Given the description of an element on the screen output the (x, y) to click on. 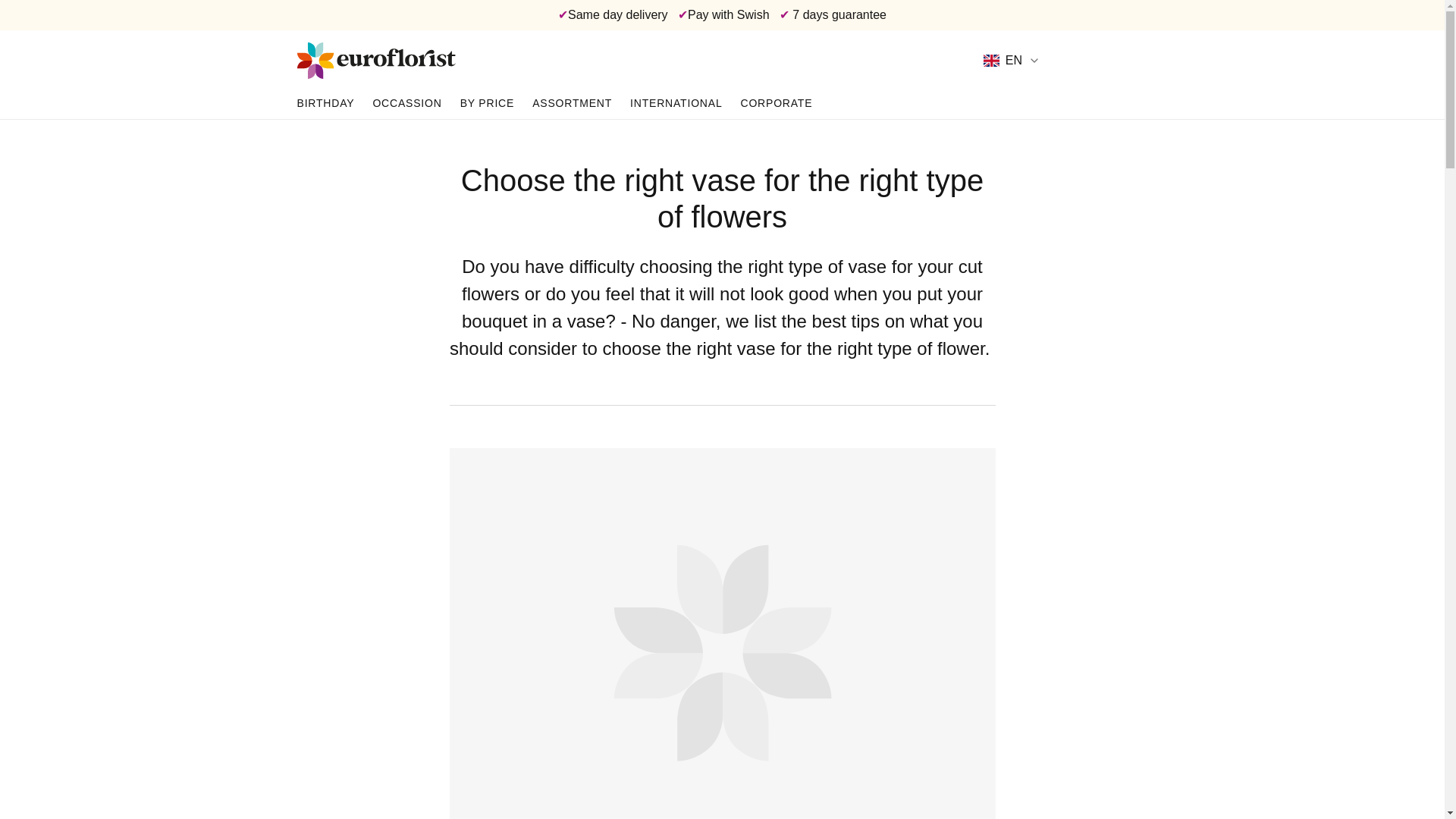
EN (1011, 60)
